Given the description of an element on the screen output the (x, y) to click on. 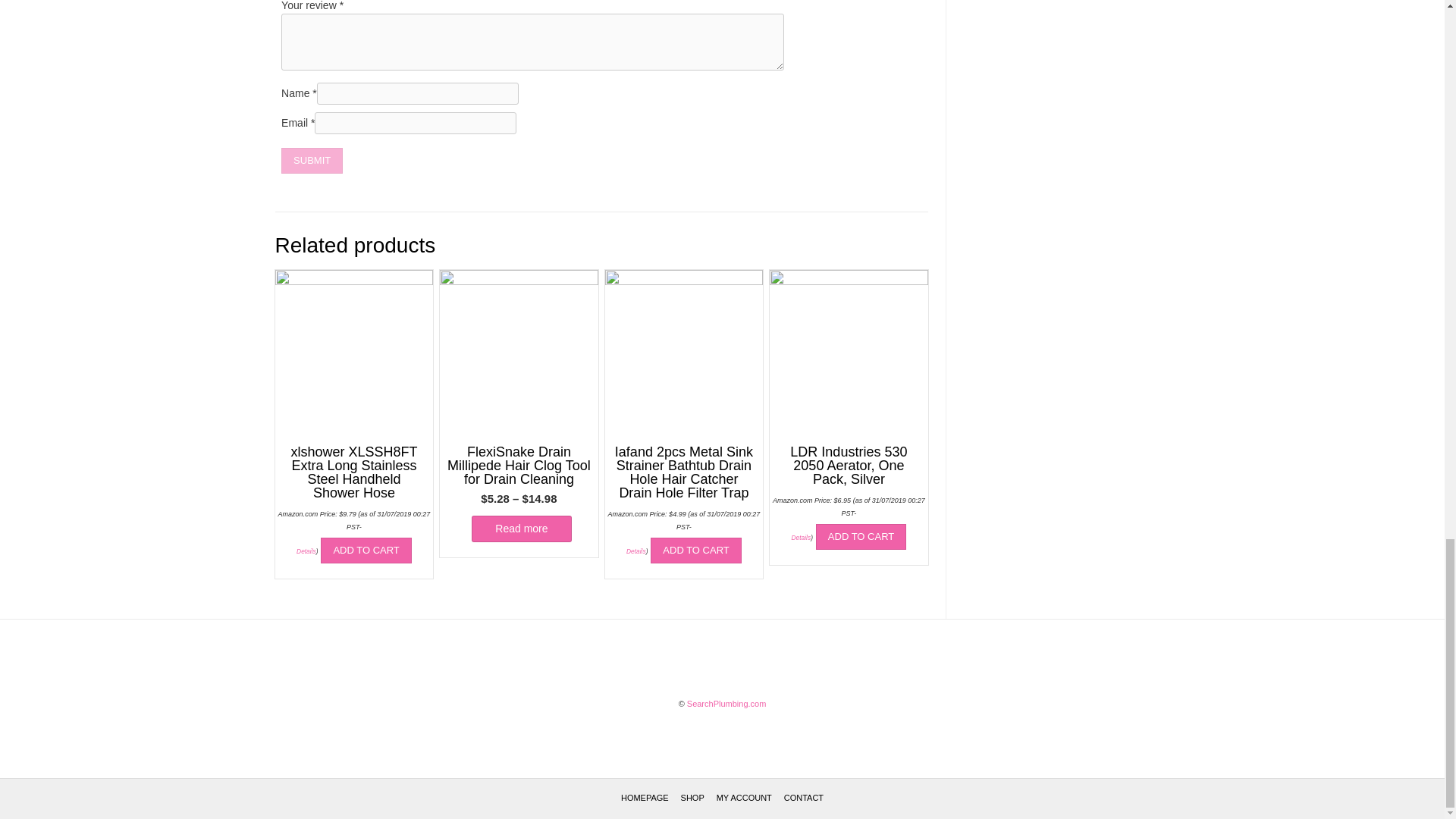
Submit (311, 160)
